Given the description of an element on the screen output the (x, y) to click on. 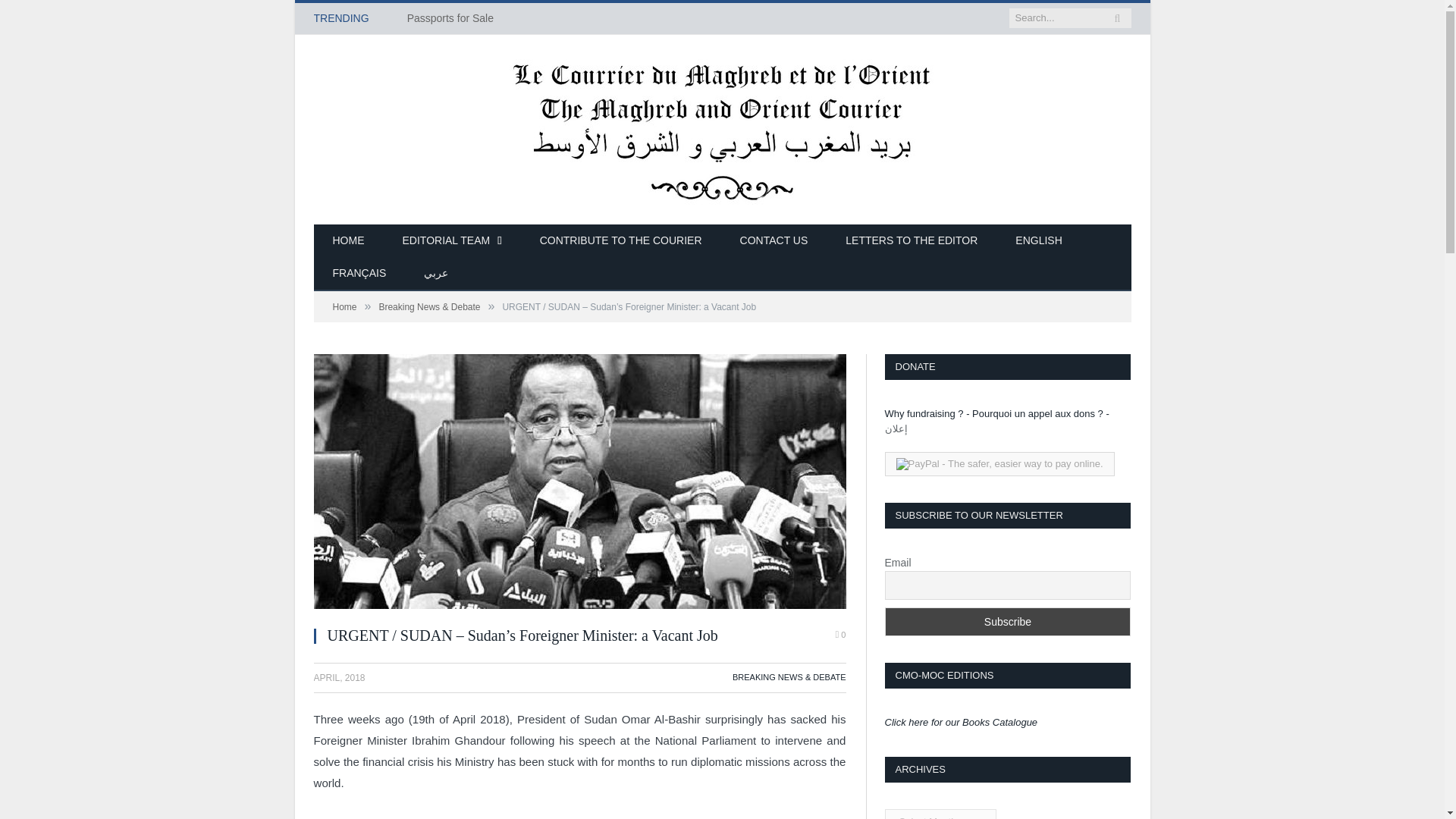
Passports for Sale (453, 18)
HOME (349, 241)
Passports for Sale (453, 18)
Subscribe (1007, 621)
EDITORIAL TEAM (452, 241)
